Given the description of an element on the screen output the (x, y) to click on. 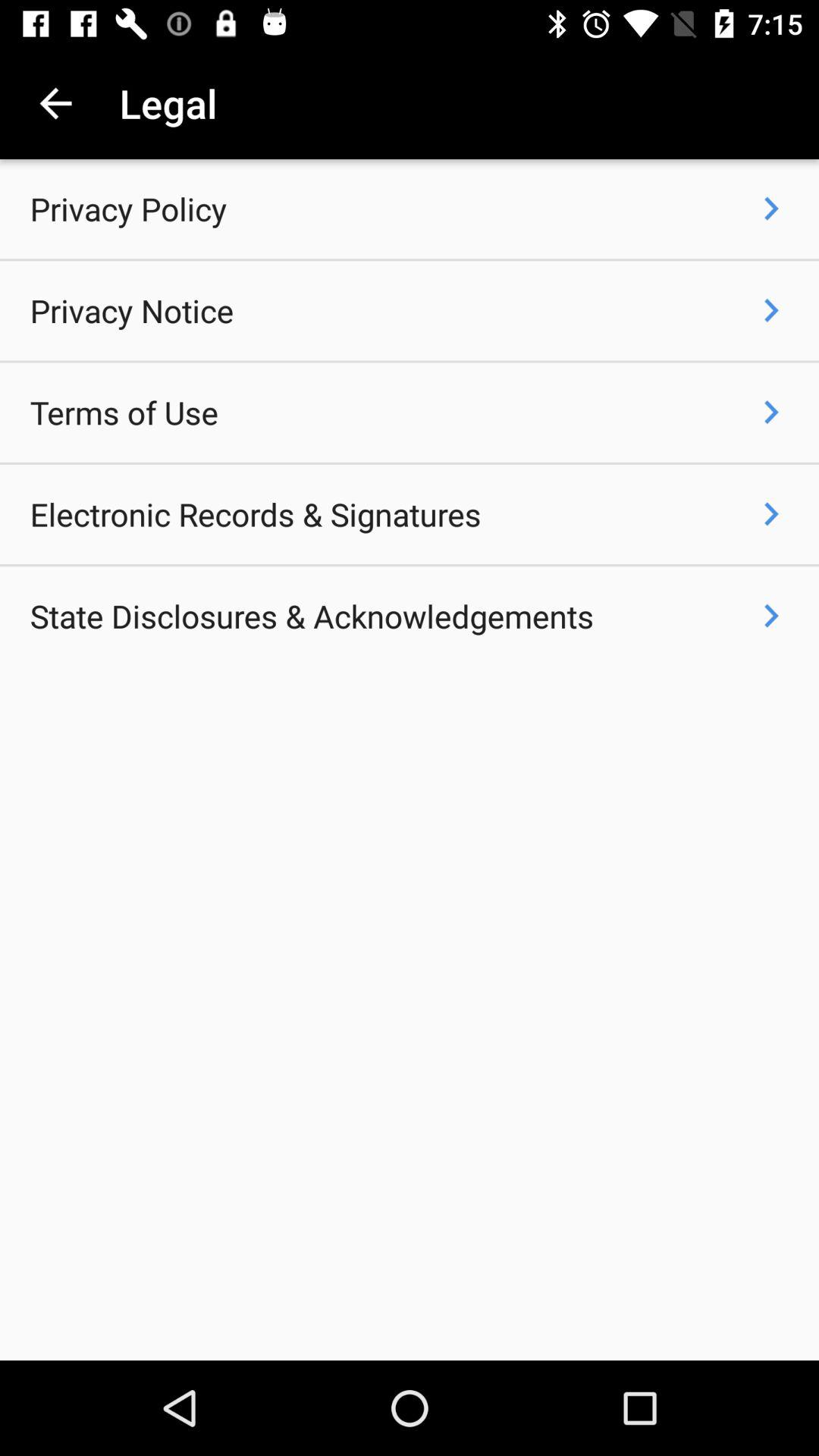
tap icon to the left of the legal item (55, 103)
